Given the description of an element on the screen output the (x, y) to click on. 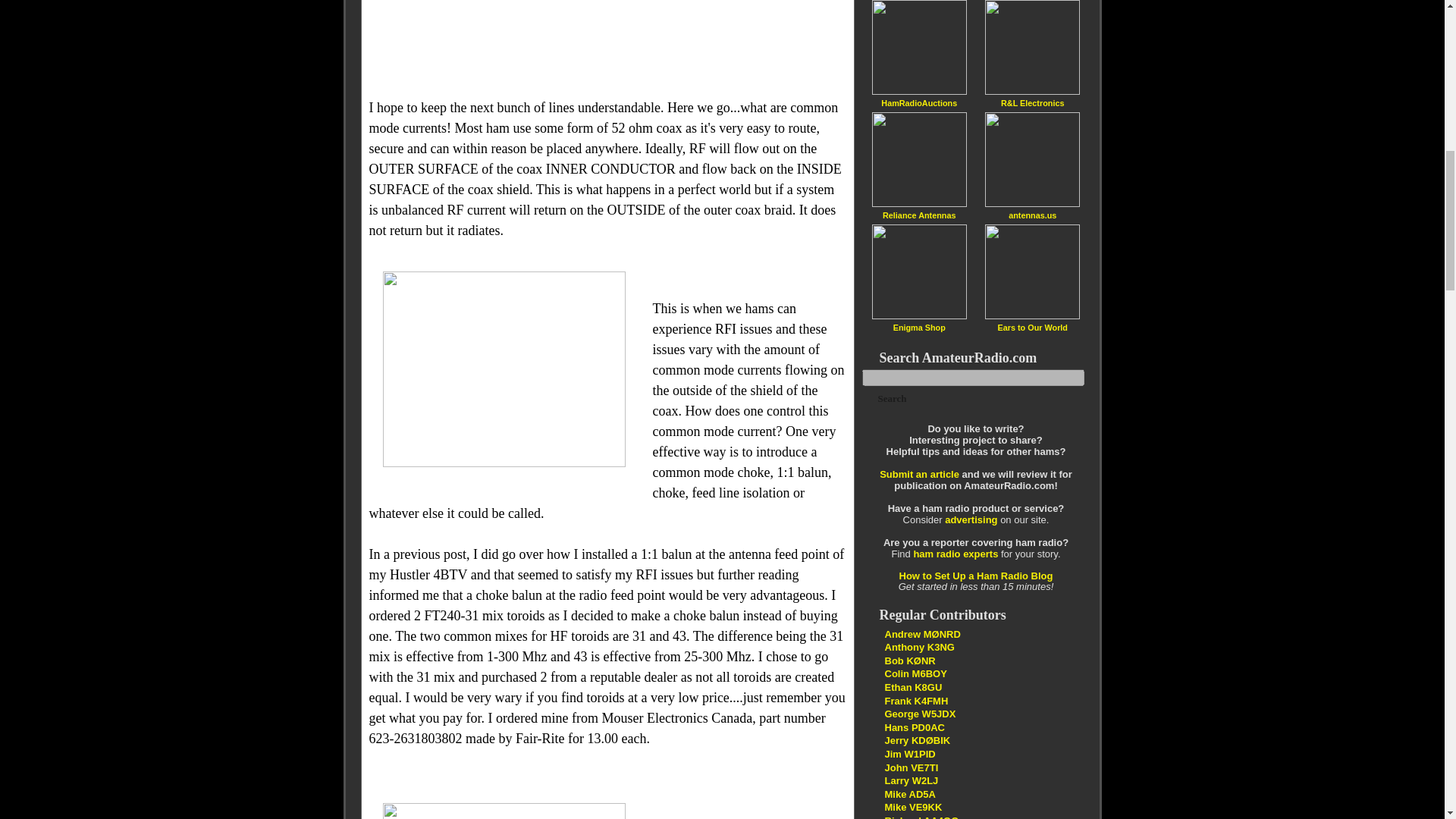
Thoughts of a Dutch radio amateur (913, 727)
MY HAM RADIO EXPERIENCES (908, 794)
Entertain, Encourage, Educate and Inspire (916, 740)
Lower your Power  Raise your Expectations (920, 816)
Search (891, 398)
